Given the description of an element on the screen output the (x, y) to click on. 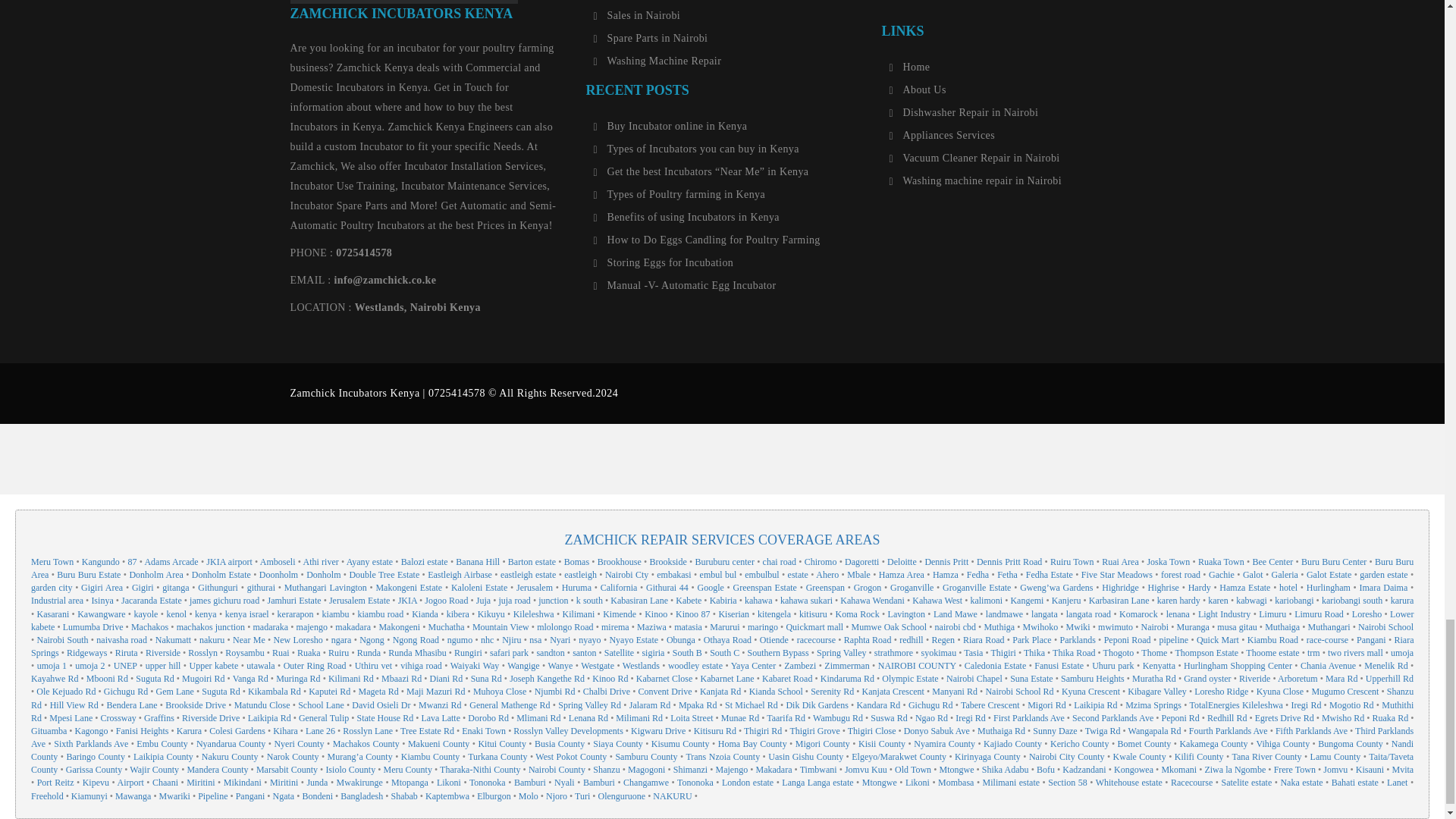
Ayany estate (369, 561)
Coverage Areas (721, 550)
Storing Eggs for Incubation (662, 263)
Spare Parts in Nairobi (649, 38)
JKIA airport (228, 561)
How to Do Eggs Candling for Poultry Farming (705, 240)
Adams Arcade (171, 561)
Washing Machine Repair (656, 60)
Buy Incubator online in Kenya (669, 126)
Sales in Nairobi (635, 15)
Meru Town (52, 561)
Balozi estate (424, 561)
Amboseli (277, 561)
Kangundo (100, 561)
Athi river (320, 561)
